Given the description of an element on the screen output the (x, y) to click on. 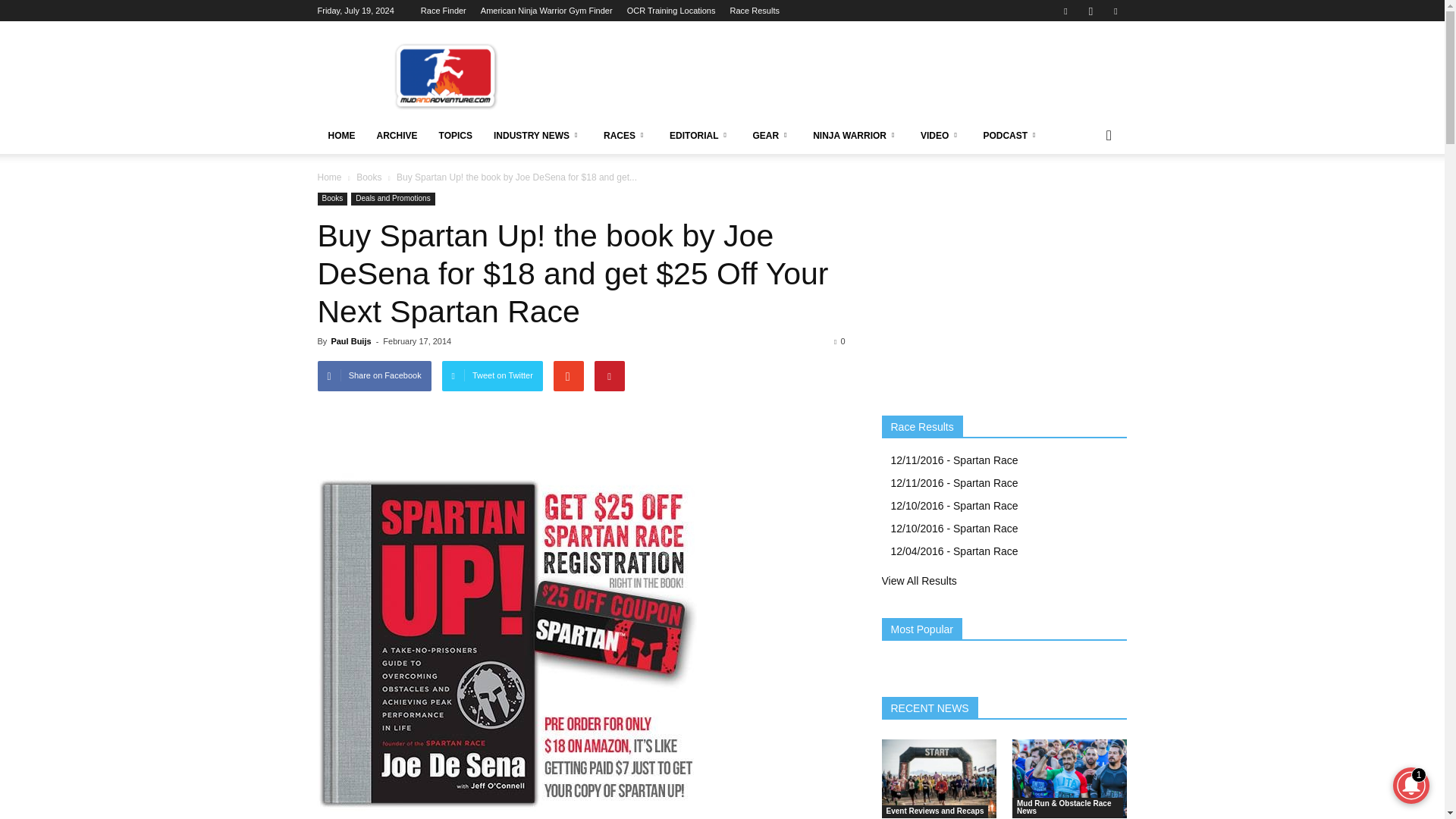
Advertisement (850, 76)
TOPICS (455, 135)
HOME (341, 135)
OCR Training Locations (671, 10)
Race Results (754, 10)
Instagram (1090, 10)
Twitter (1114, 10)
ARCHIVE (396, 135)
Race Finder (442, 10)
INDUSTRY NEWS (537, 135)
American Ninja Warrior Gym Finder (546, 10)
Facebook (1065, 10)
